Given the description of an element on the screen output the (x, y) to click on. 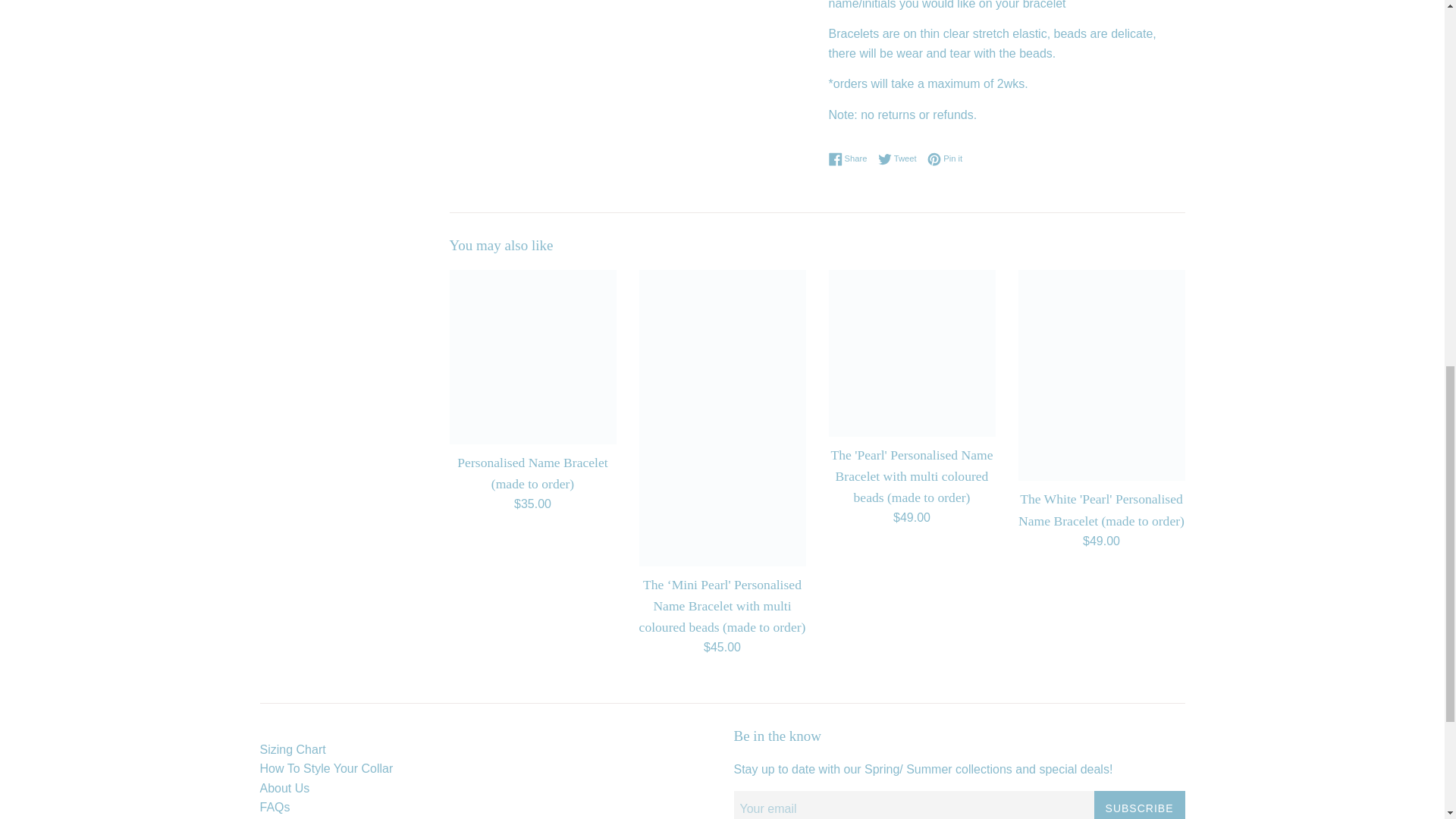
Tweet on Twitter (851, 159)
Pin on Pinterest (944, 159)
Share on Facebook (900, 159)
